Given the description of an element on the screen output the (x, y) to click on. 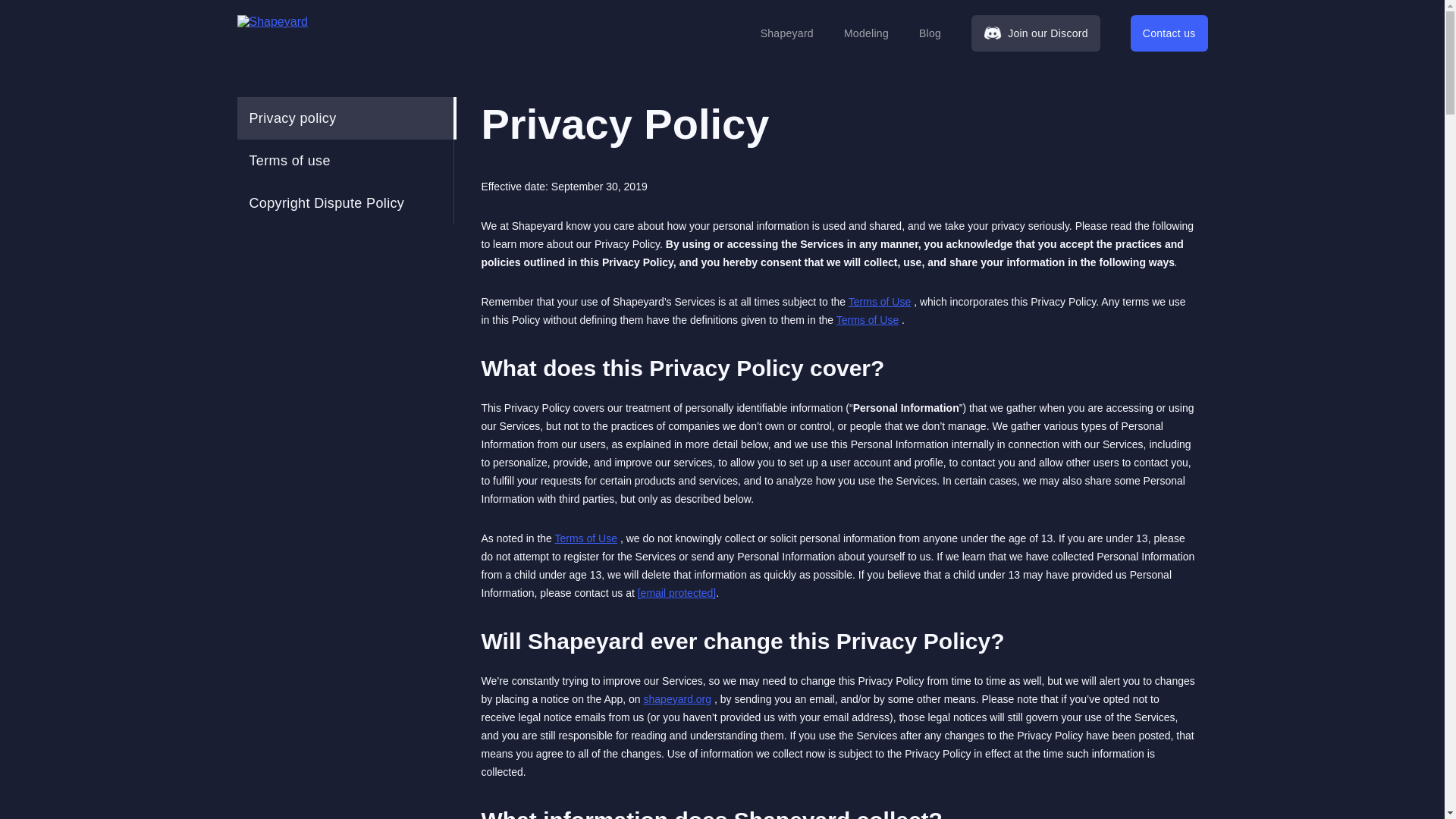
Terms of Use (879, 301)
Contact us (1169, 33)
Shapeyard (786, 32)
Join our Discord (1035, 33)
Terms of Use (585, 538)
Privacy policy (343, 118)
Blog (929, 32)
Terms of use (343, 160)
Terms of Use (866, 319)
shapeyard.org (677, 698)
